Given the description of an element on the screen output the (x, y) to click on. 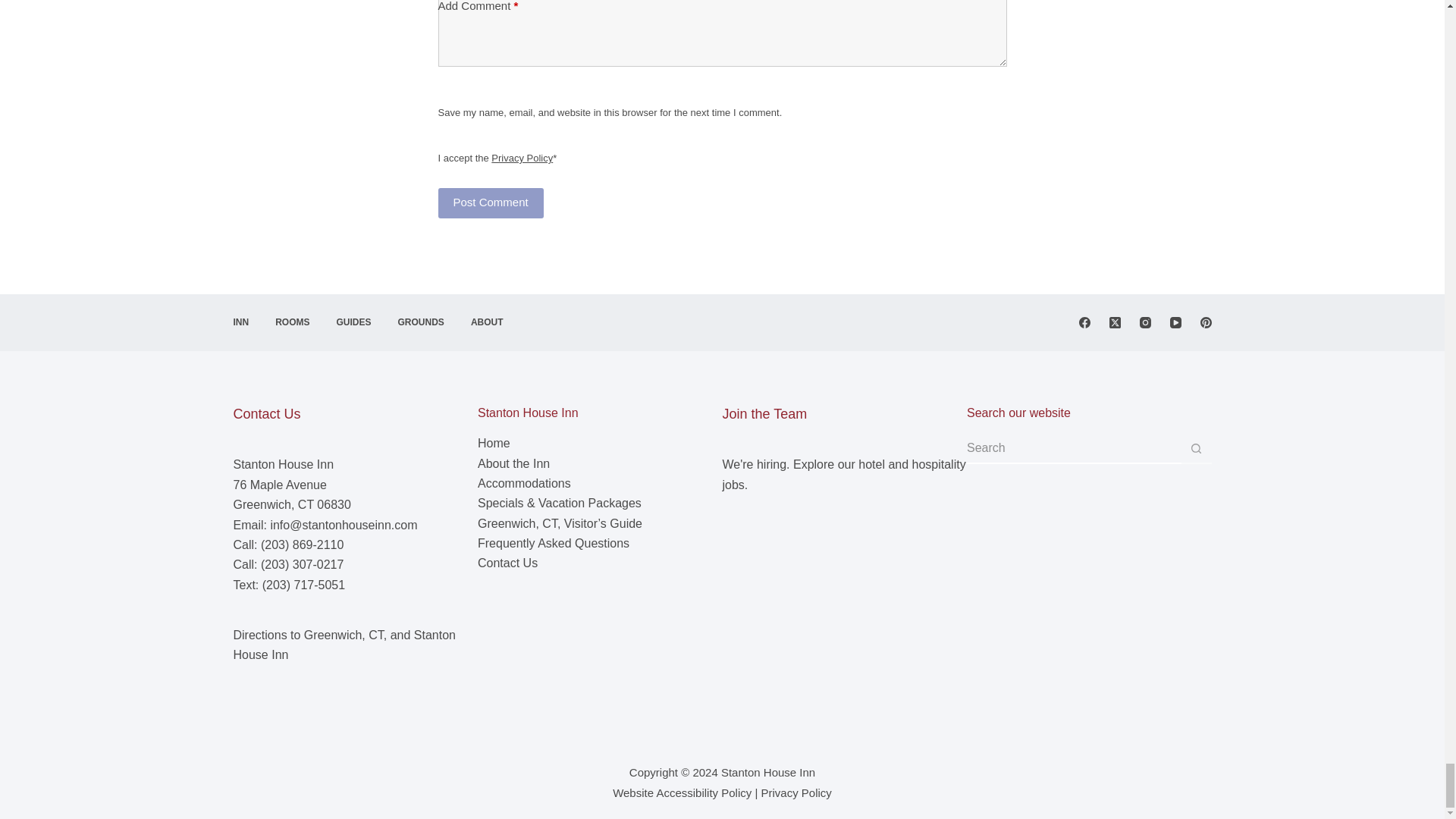
on (443, 140)
Search for... (1073, 449)
yes (443, 94)
